Given the description of an element on the screen output the (x, y) to click on. 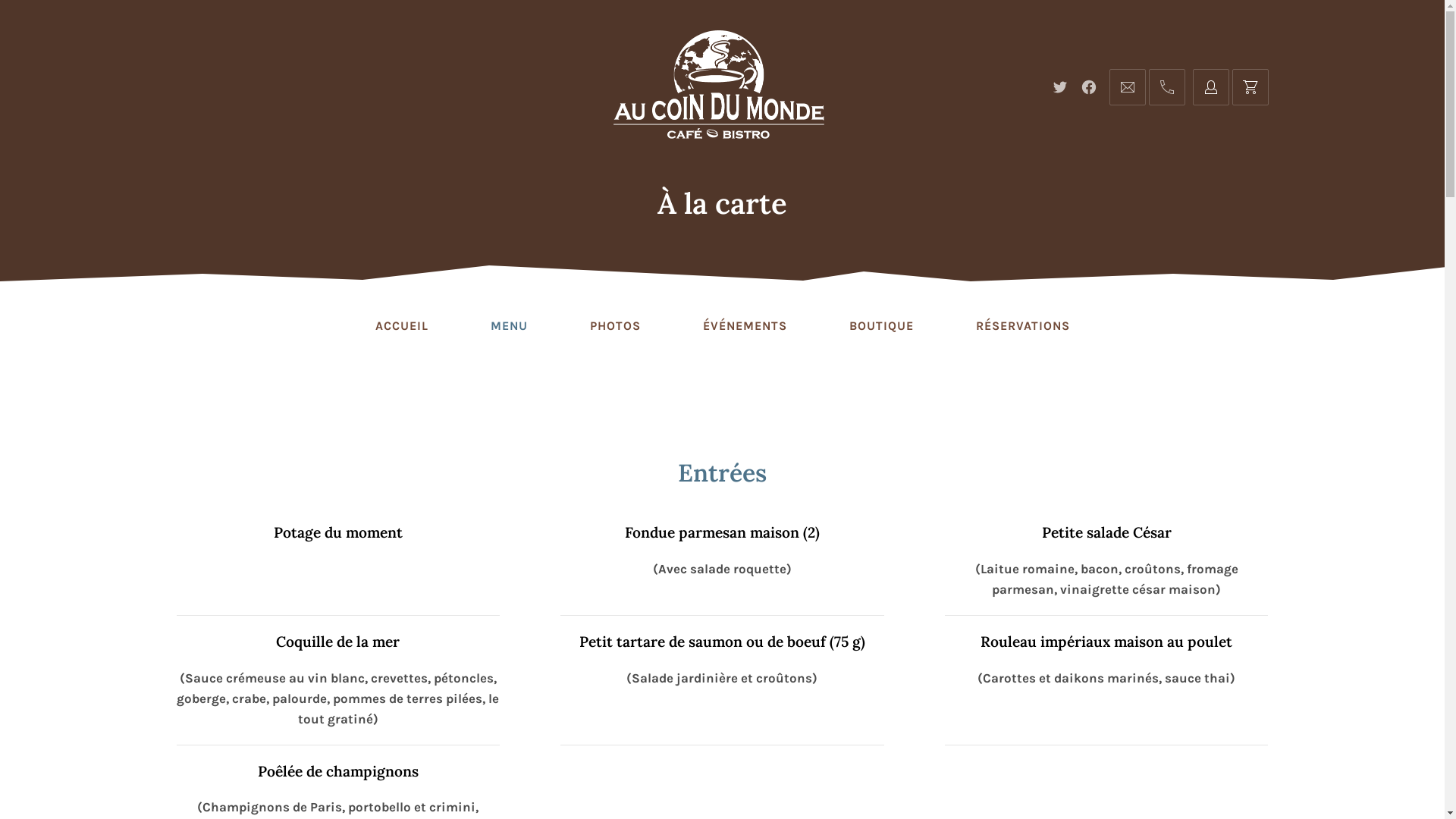
1 418-248-0001 Element type: text (1166, 87)
info@aucoindumonde.ca Element type: text (1126, 87)
ACCUEIL Element type: text (401, 326)
New Window Element type: text (1088, 87)
BOUTIQUE Element type: text (881, 326)
User Element type: text (1210, 87)
MENU Element type: text (508, 326)
New Window Element type: text (1059, 87)
PHOTOS Element type: text (615, 326)
Cart Element type: text (1249, 87)
